Given the description of an element on the screen output the (x, y) to click on. 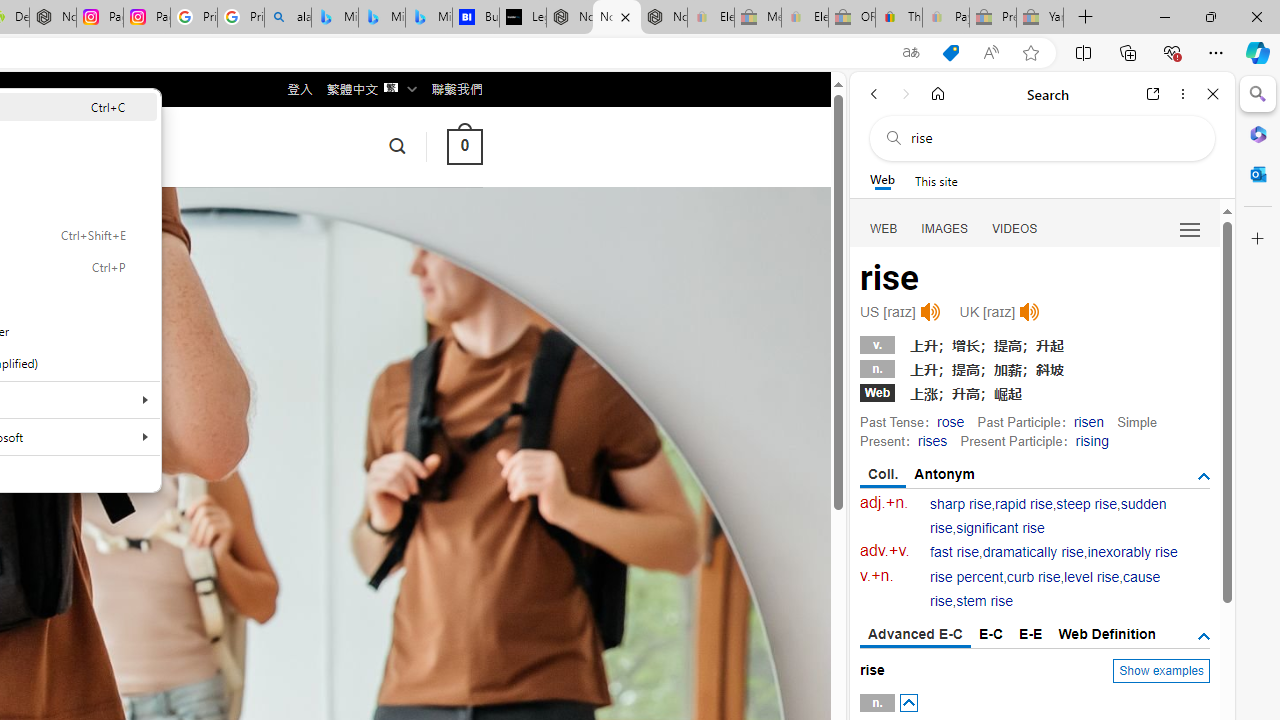
Web scope (882, 180)
rising (1091, 440)
Threats and offensive language policy | eBay (898, 17)
steep rise (1086, 503)
Yard, Garden & Outdoor Living - Sleeping (1040, 17)
sudden rise (1048, 515)
Search Filter, IMAGES (944, 228)
Press Room - eBay Inc. - Sleeping (993, 17)
